Given the description of an element on the screen output the (x, y) to click on. 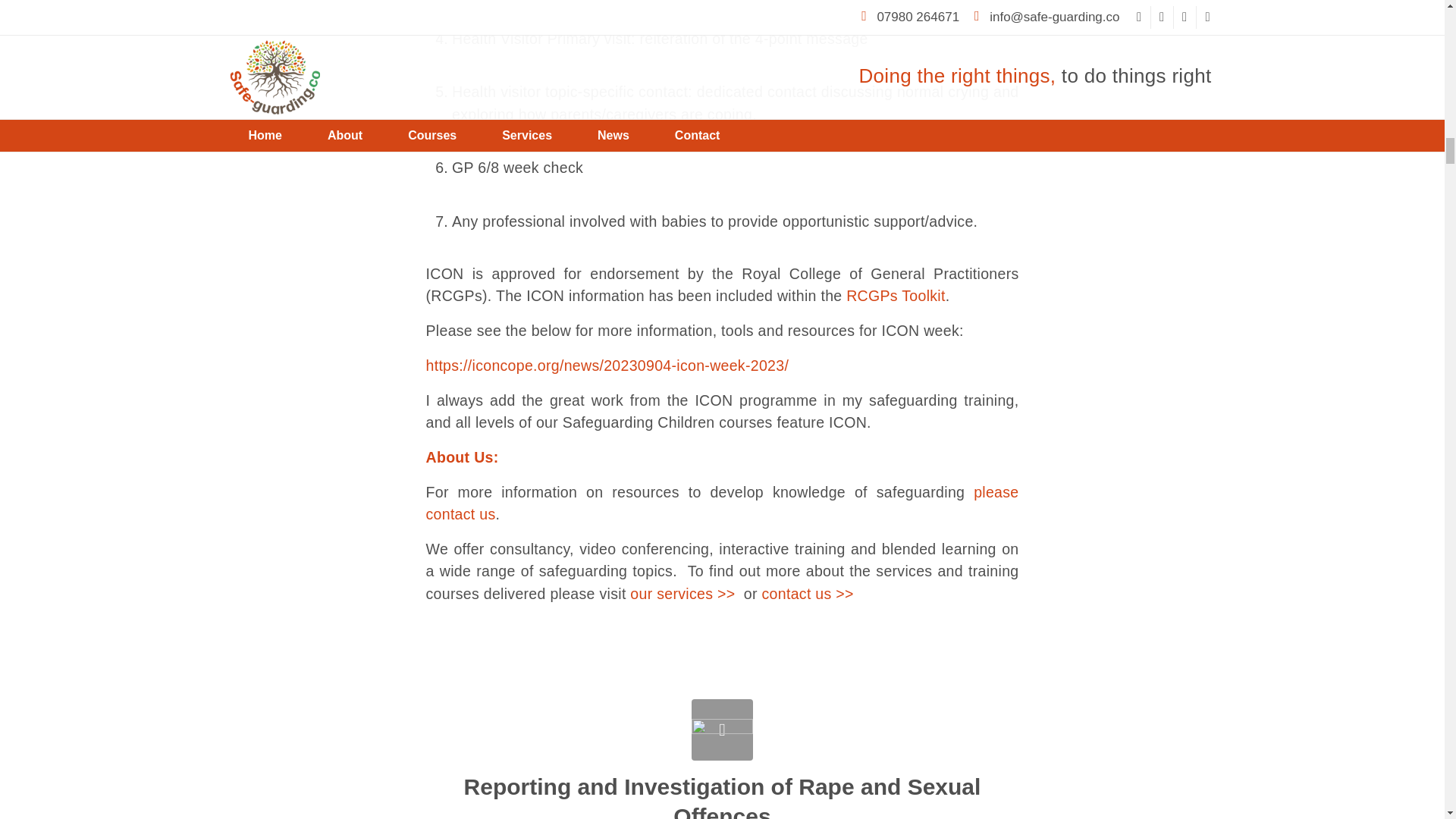
please contact us (722, 503)
RCGPs Toolkit (894, 295)
Soteria (721, 729)
